Given the description of an element on the screen output the (x, y) to click on. 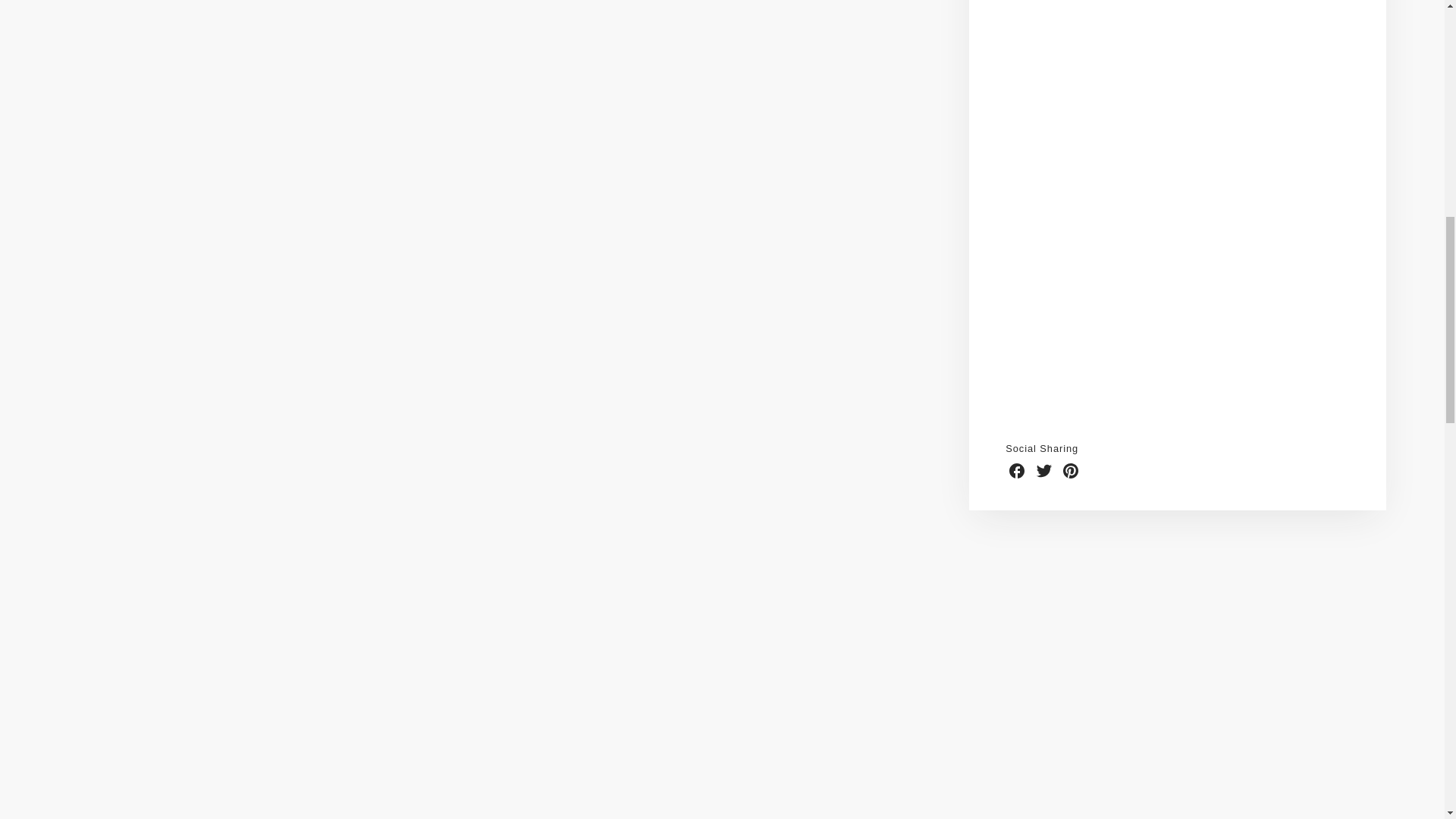
Pin on Pinterest (1070, 470)
Share on Facebook (1016, 470)
Tweet on Twitter (1043, 470)
